Given the description of an element on the screen output the (x, y) to click on. 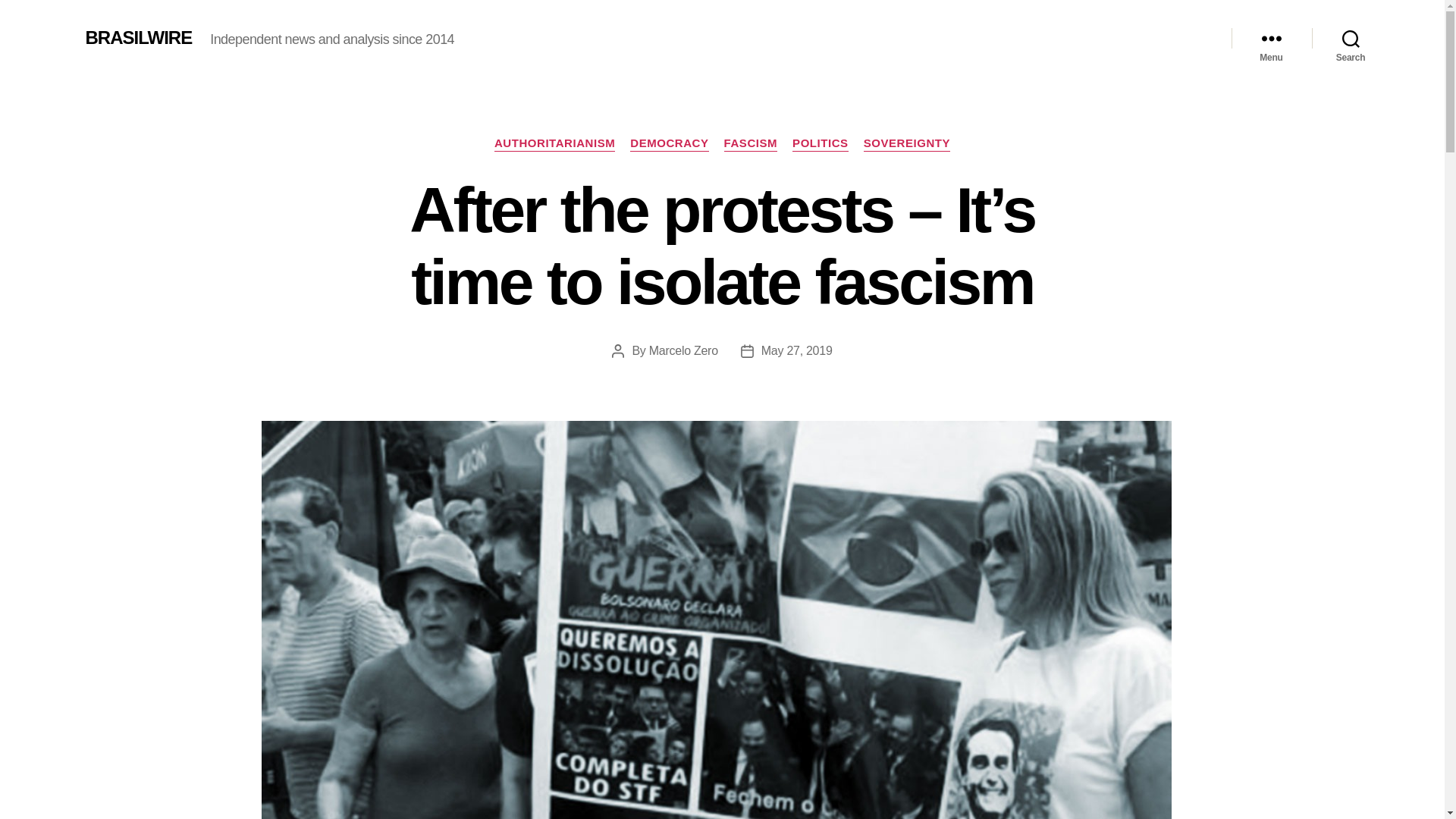
Menu (1271, 37)
Search (1350, 37)
BRASILWIRE (138, 37)
